Given the description of an element on the screen output the (x, y) to click on. 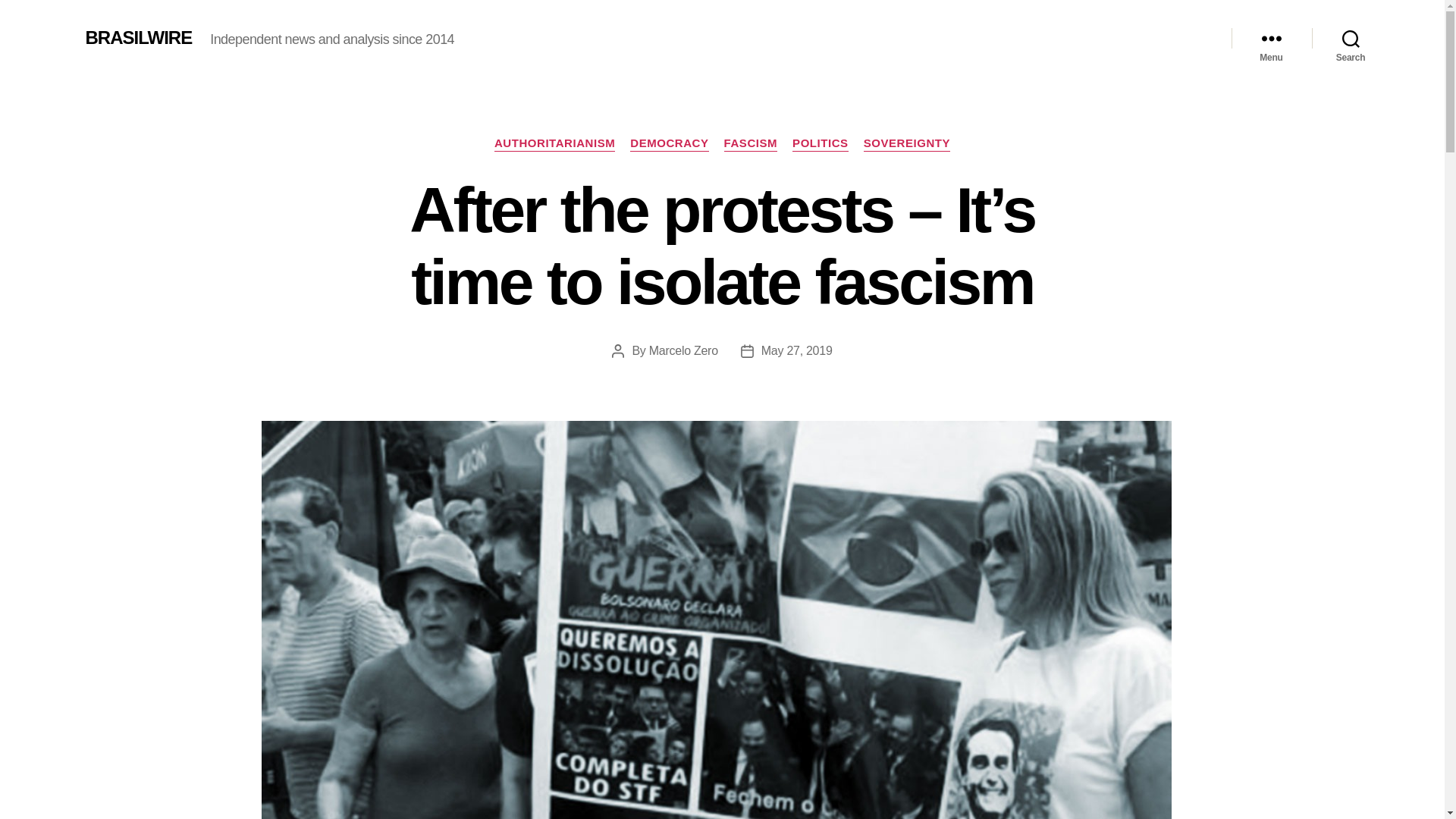
Menu (1271, 37)
Search (1350, 37)
BRASILWIRE (138, 37)
